Given the description of an element on the screen output the (x, y) to click on. 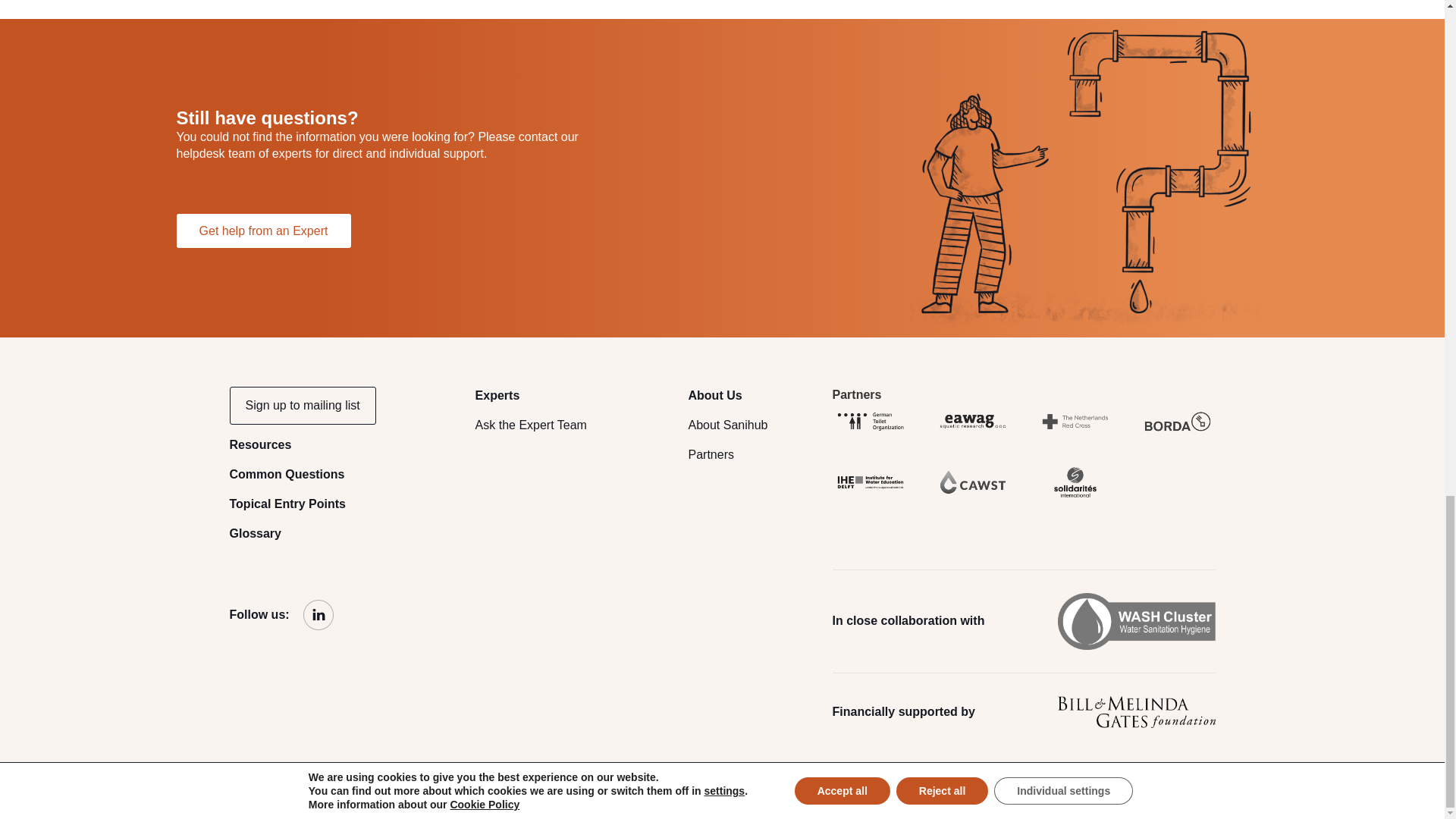
Ask the Expert Team (531, 424)
Resources (259, 444)
Glossary (254, 533)
Sign up to mailing list (302, 404)
Get help from an Expert (263, 230)
Topical Entry Points (287, 503)
Get help from an Expert (263, 230)
Common Questions (285, 473)
Experts (497, 395)
